Given the description of an element on the screen output the (x, y) to click on. 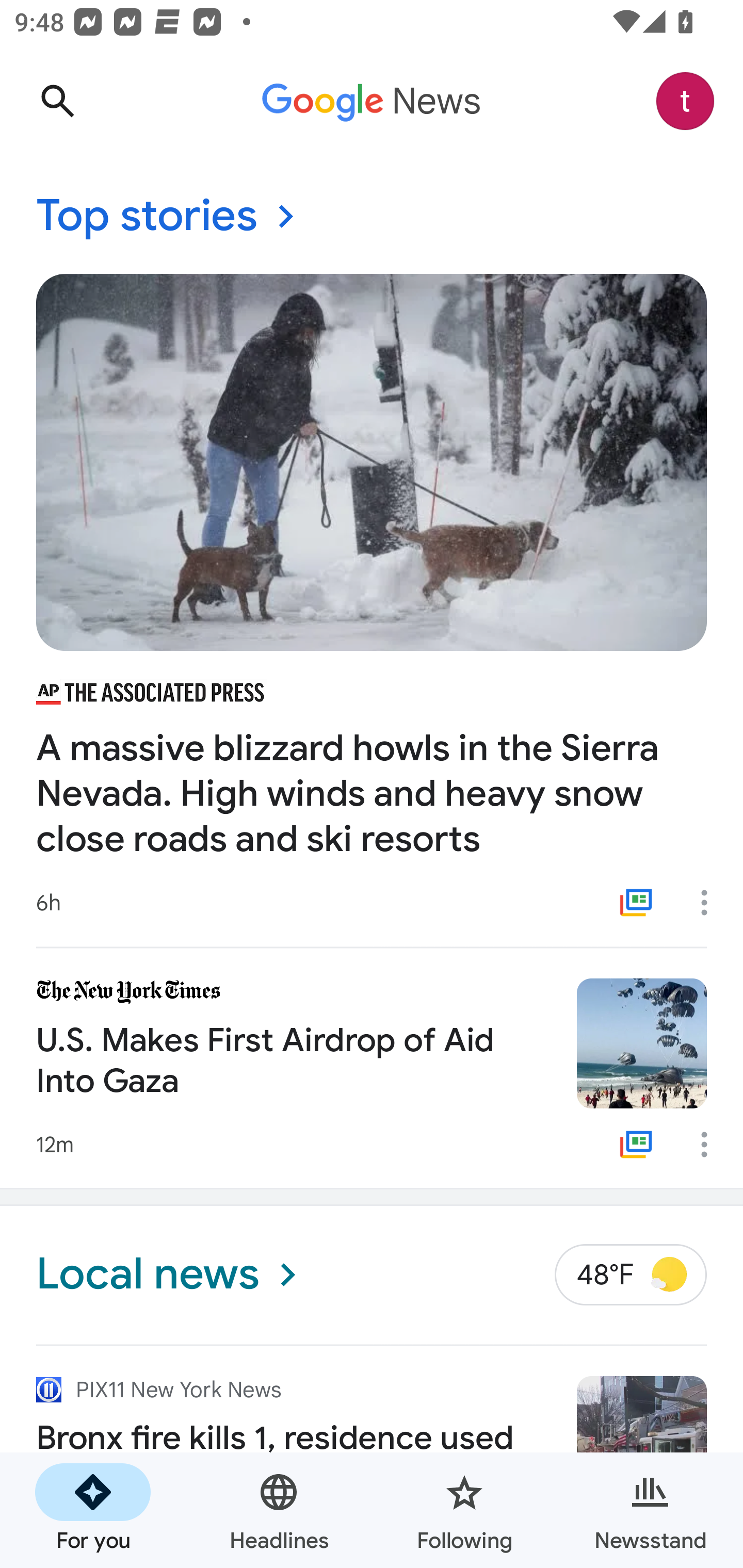
Search (57, 100)
Top stories (371, 216)
More options (711, 902)
More options (711, 1144)
For you (92, 1509)
Headlines (278, 1509)
Following (464, 1509)
Newsstand (650, 1509)
